Given the description of an element on the screen output the (x, y) to click on. 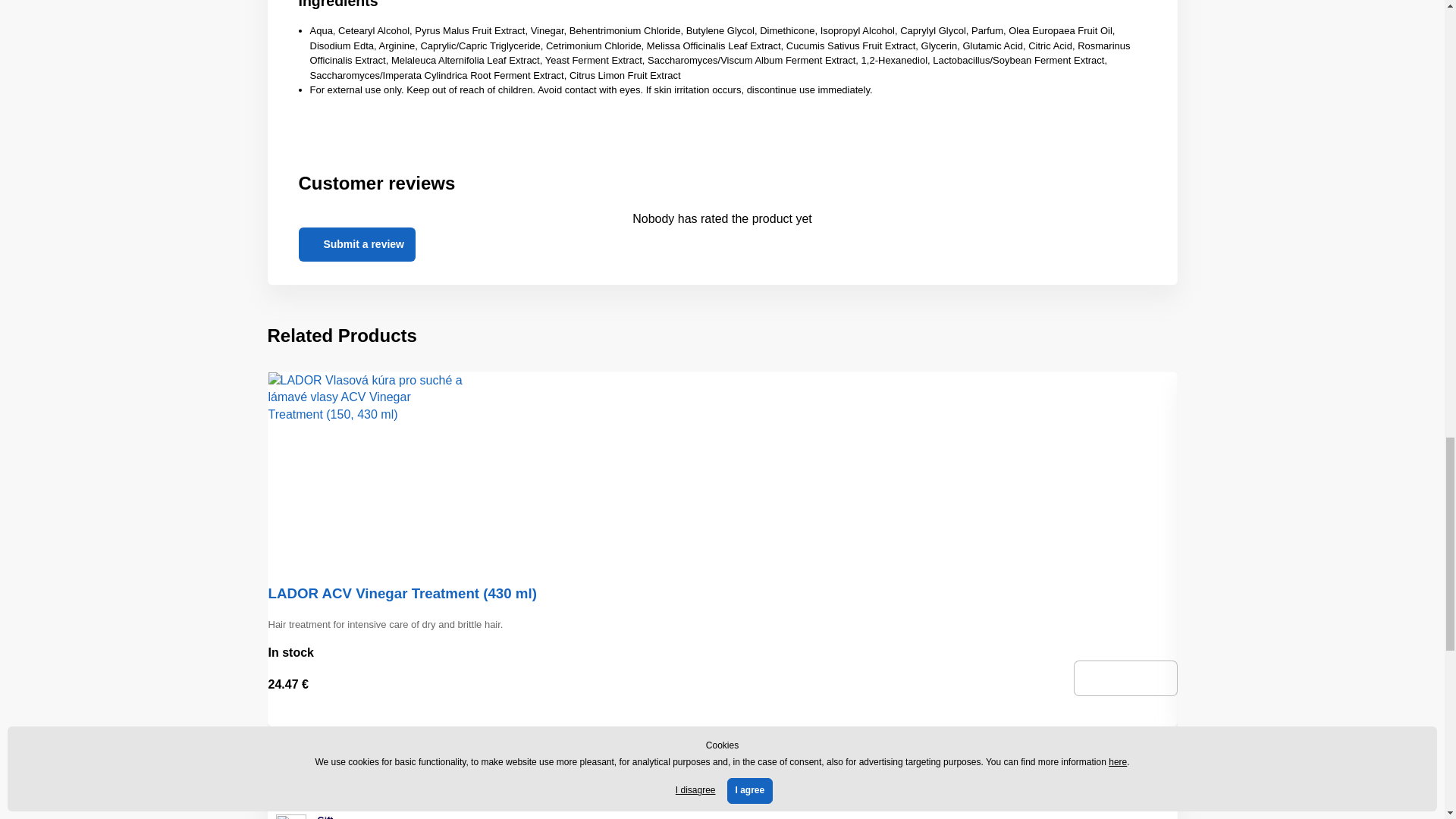
Into the cart (1125, 677)
Add to Favourites (715, 716)
Remove from comparison (729, 716)
